Given the description of an element on the screen output the (x, y) to click on. 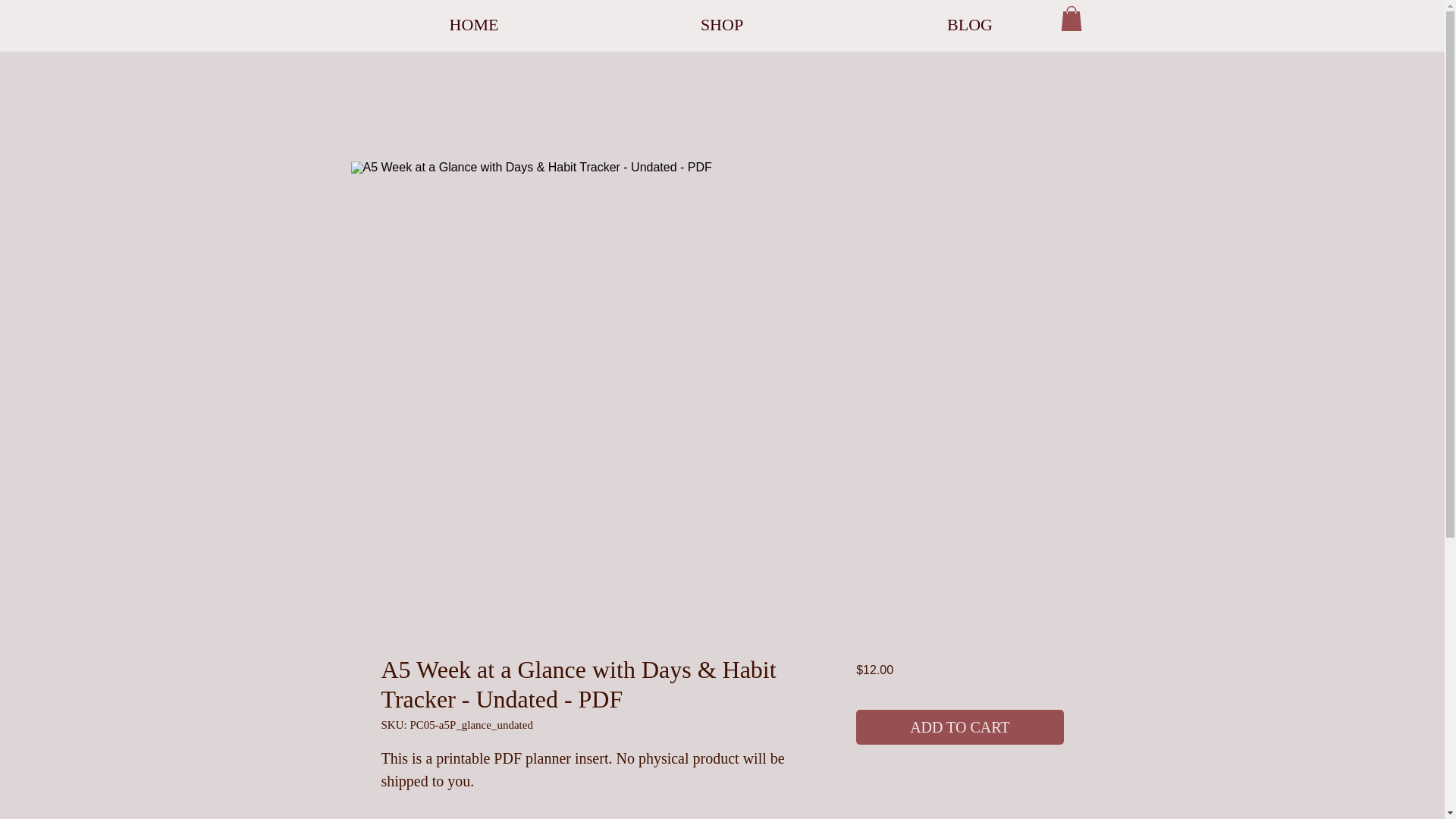
ADD TO CART (959, 727)
HOME (474, 24)
BLOG (969, 24)
SHOP (720, 24)
